Given the description of an element on the screen output the (x, y) to click on. 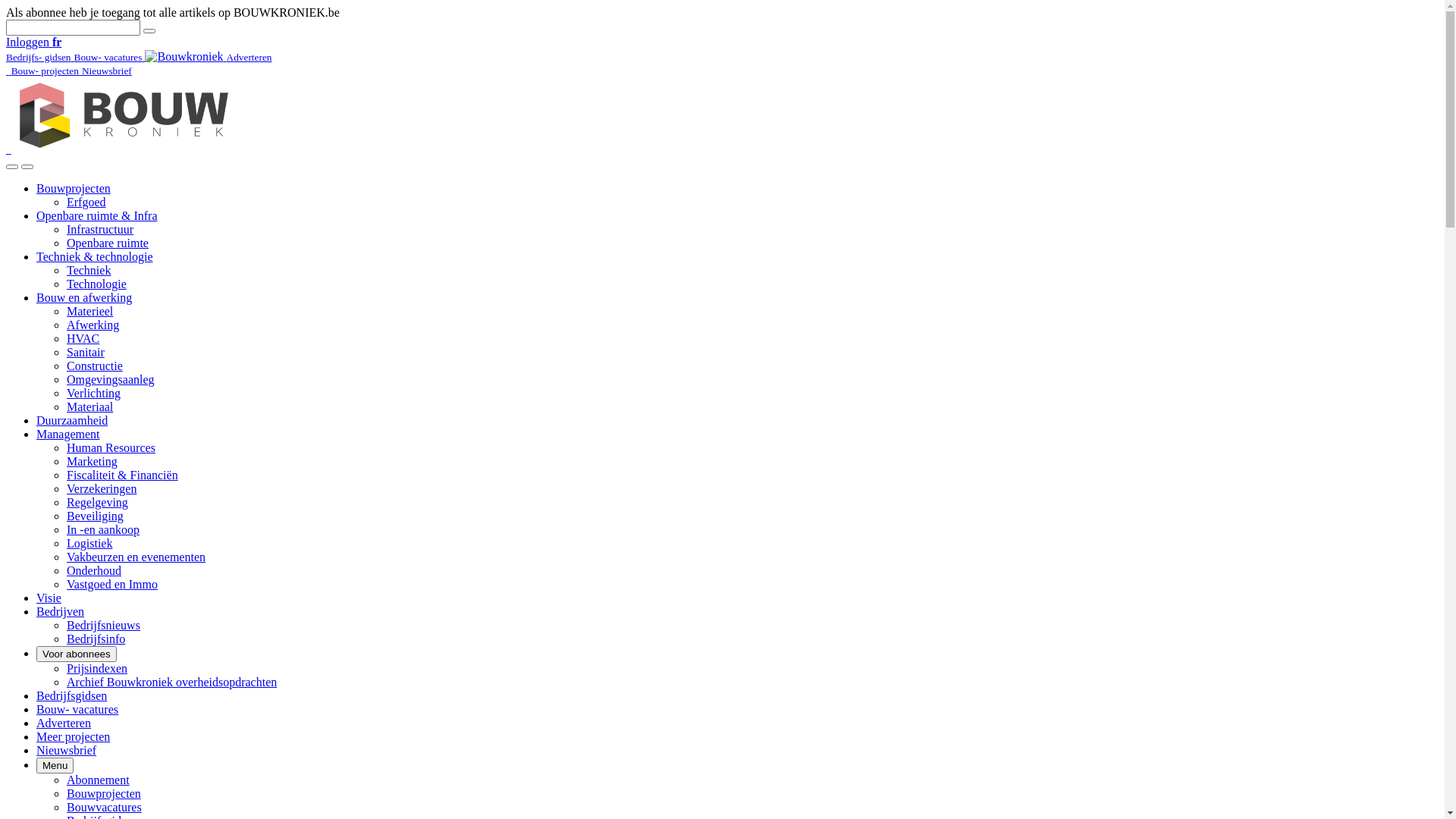
Bedrijfsinfo Element type: text (95, 638)
Vastgoed en Immo Element type: text (111, 583)
fr Element type: text (56, 41)
Materiaal Element type: text (89, 406)
Regelgeving Element type: text (97, 501)
Techniek & technologie Element type: text (94, 256)
Erfgoed Element type: text (86, 201)
Beveiliging Element type: text (94, 515)
Duurzaamheid Element type: text (71, 420)
Archief Bouwkroniek overheidsopdrachten Element type: text (171, 681)
HVAC Element type: text (82, 338)
Visie Element type: text (48, 597)
Technologie Element type: text (96, 283)
Adverteren
  Element type: text (139, 63)
Menu Element type: text (54, 765)
Verlichting Element type: text (93, 392)
Human Resources Element type: text (110, 447)
Management Element type: text (68, 433)
Meer projecten Element type: text (72, 736)
Logistiek Element type: text (89, 542)
Techniek Element type: text (88, 269)
Abonnement Element type: text (97, 779)
Sanitair Element type: text (85, 351)
Constructie Element type: text (94, 365)
Verzekeringen Element type: text (101, 488)
In -en aankoop Element type: text (102, 529)
Afwerking Element type: text (92, 324)
Nieuwsbrief
  Element type: text (68, 109)
Openbare ruimte & Infra Element type: text (96, 215)
Bouwprojecten Element type: text (103, 793)
Nieuwsbrief Element type: text (66, 749)
Adverteren Element type: text (63, 722)
Bedrijfs- gidsen Element type: text (40, 56)
Bouwprojecten Element type: text (73, 188)
Prijsindexen Element type: text (96, 668)
Bedrijfsnieuws Element type: text (103, 624)
Bouw- vacatures Element type: text (77, 708)
Bouw- projecten Element type: text (46, 69)
Materieel Element type: text (89, 310)
Bouw en afwerking Element type: text (83, 297)
Inloggen Element type: text (29, 41)
Openbare ruimte Element type: text (107, 242)
Voor abonnees Element type: text (76, 654)
Omgevingsaanleg Element type: text (110, 379)
Vakbeurzen en evenementen Element type: text (135, 556)
Bedrijfsgidsen Element type: text (71, 695)
Bouwvacatures Element type: text (103, 806)
Bouw- vacatures Element type: text (109, 56)
Bedrijven Element type: text (60, 611)
Infrastructuur Element type: text (99, 228)
Marketing Element type: text (91, 461)
Onderhoud Element type: text (93, 570)
